Given the description of an element on the screen output the (x, y) to click on. 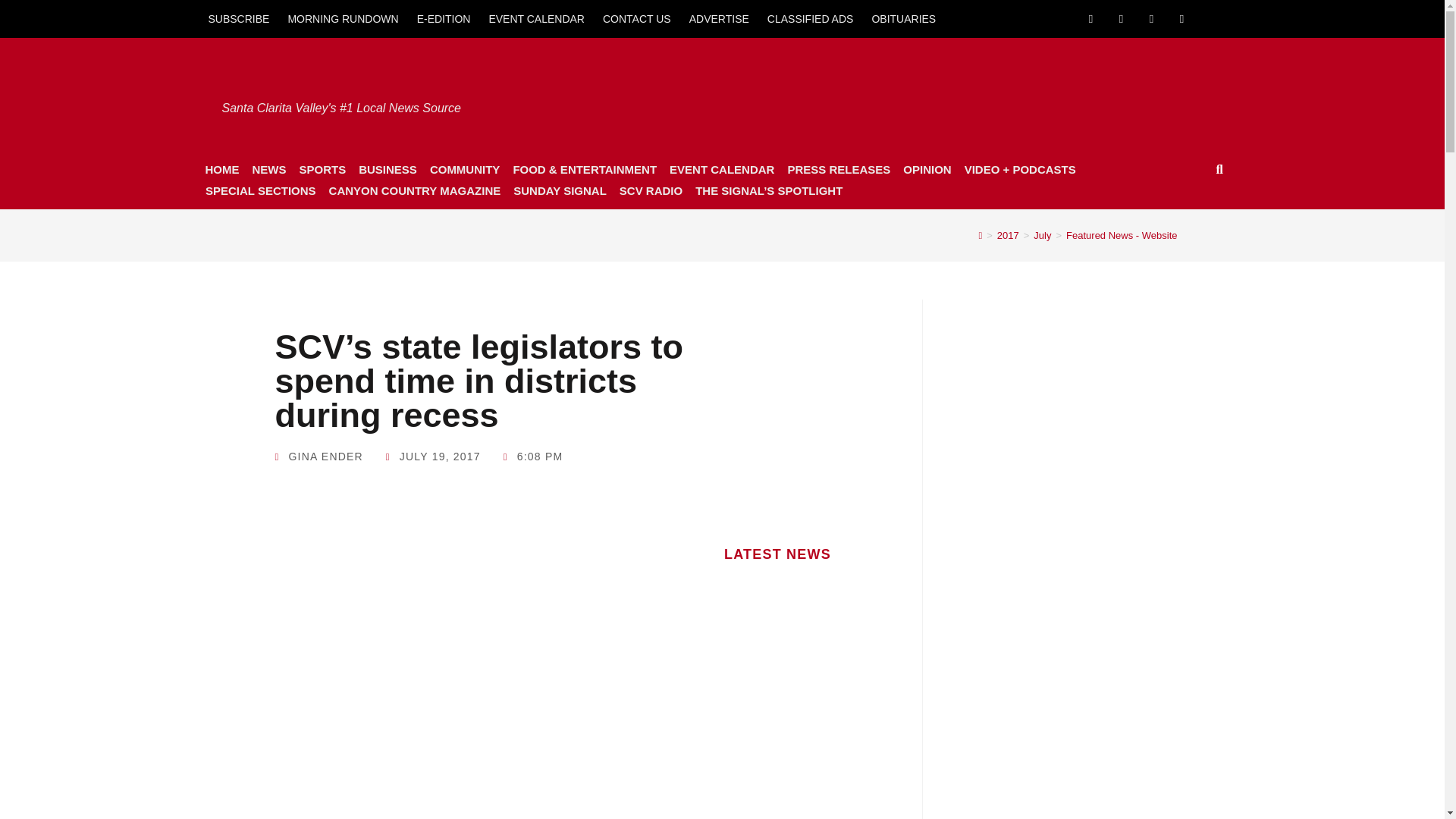
CLASSIFIED ADS (810, 18)
CONTACT US (636, 18)
HOME (221, 169)
EVENT CALENDAR (536, 18)
NEWS (269, 169)
E-EDITION (443, 18)
OBITUARIES (902, 18)
SPORTS (322, 169)
SUBSCRIBE (238, 18)
ADVERTISE (718, 18)
MORNING RUNDOWN (342, 18)
